Given the description of an element on the screen output the (x, y) to click on. 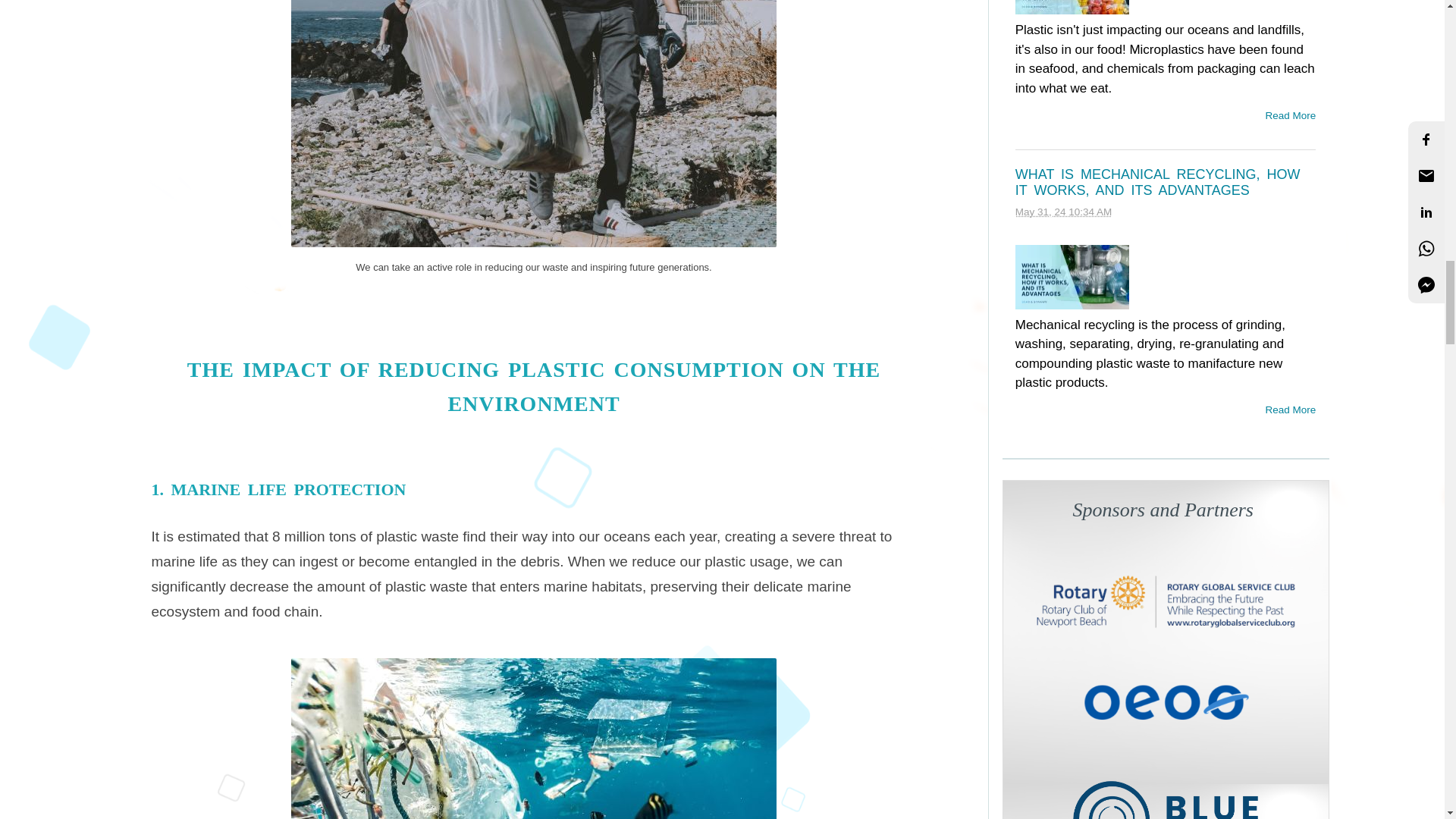
Blue Logo 500px (1165, 796)
oeoo logo (1165, 701)
Go to Setting up a recycling structure in Bocas del Toro (1165, 722)
2024-05-31T10:34:03-0400 (1063, 211)
Rotary Logo (1165, 601)
